Given the description of an element on the screen output the (x, y) to click on. 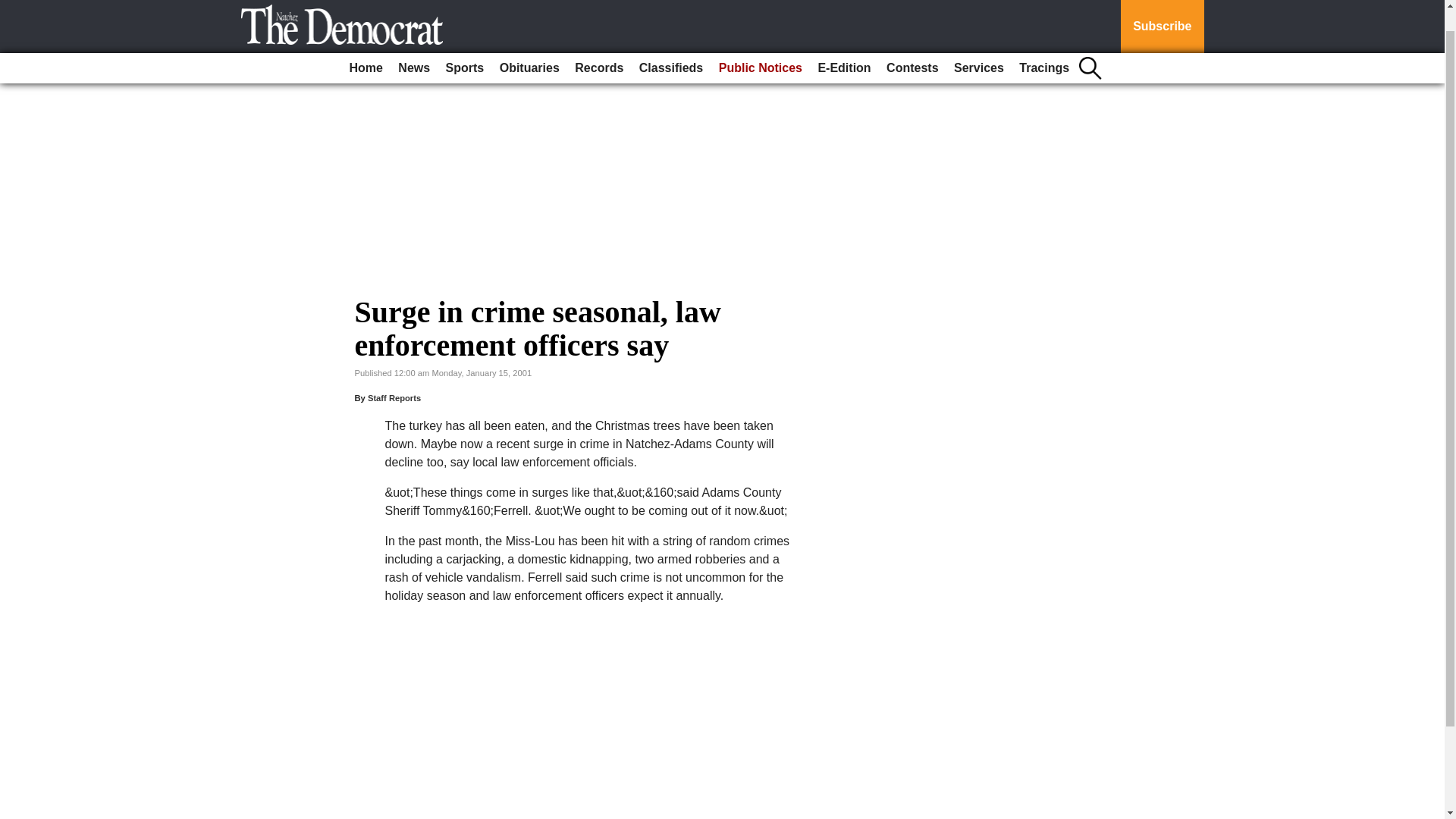
Home (365, 44)
Subscribe (1162, 14)
Services (978, 44)
Sports (464, 44)
Records (598, 44)
Tracings (1044, 44)
Staff Reports (394, 397)
Obituaries (529, 44)
News (413, 44)
E-Edition (843, 44)
